Given the description of an element on the screen output the (x, y) to click on. 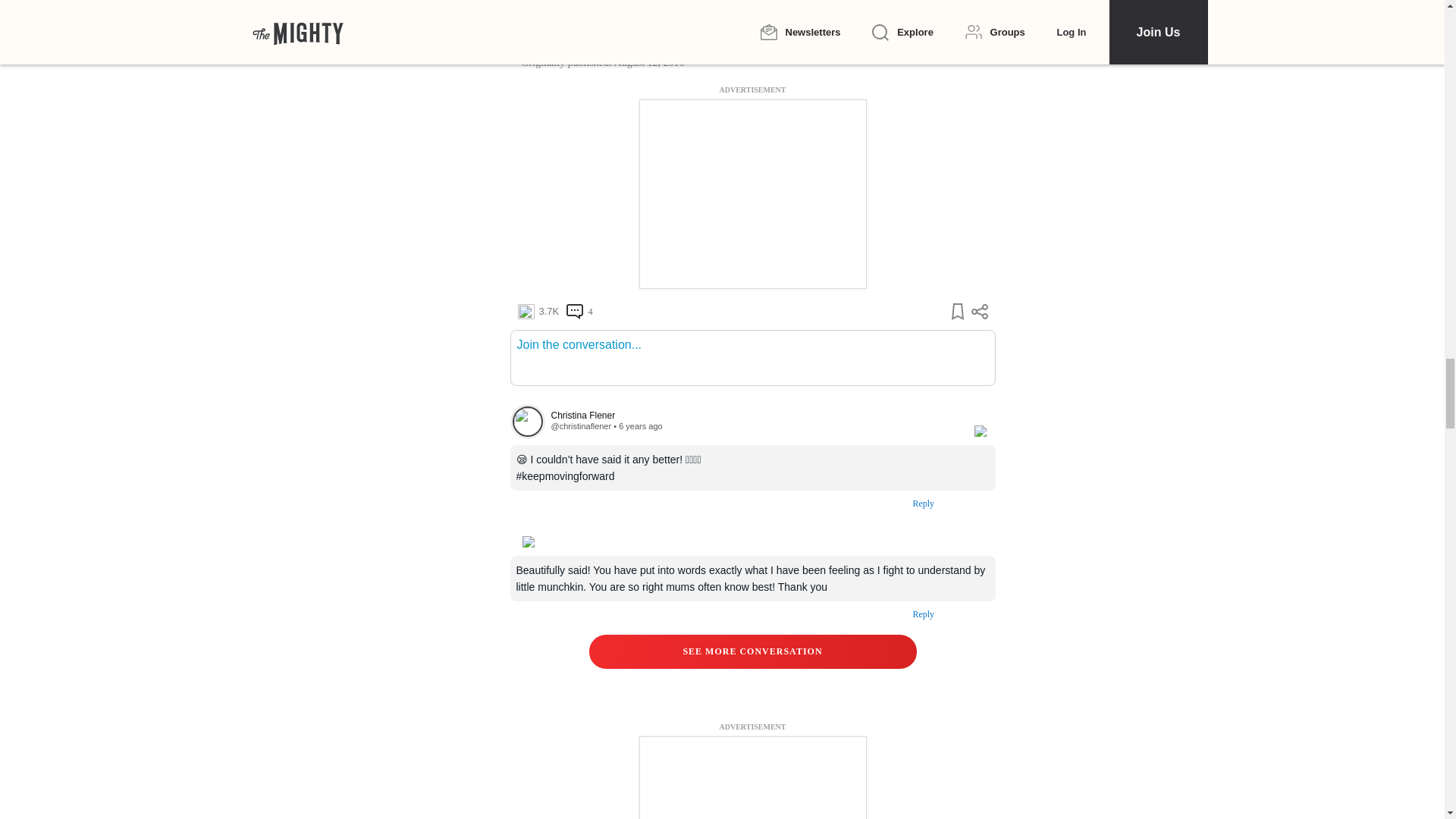
View their profile (754, 415)
View their profile (580, 425)
lauren-fitzgerald (752, 22)
View their profile (526, 421)
3.7K (537, 311)
